Given the description of an element on the screen output the (x, y) to click on. 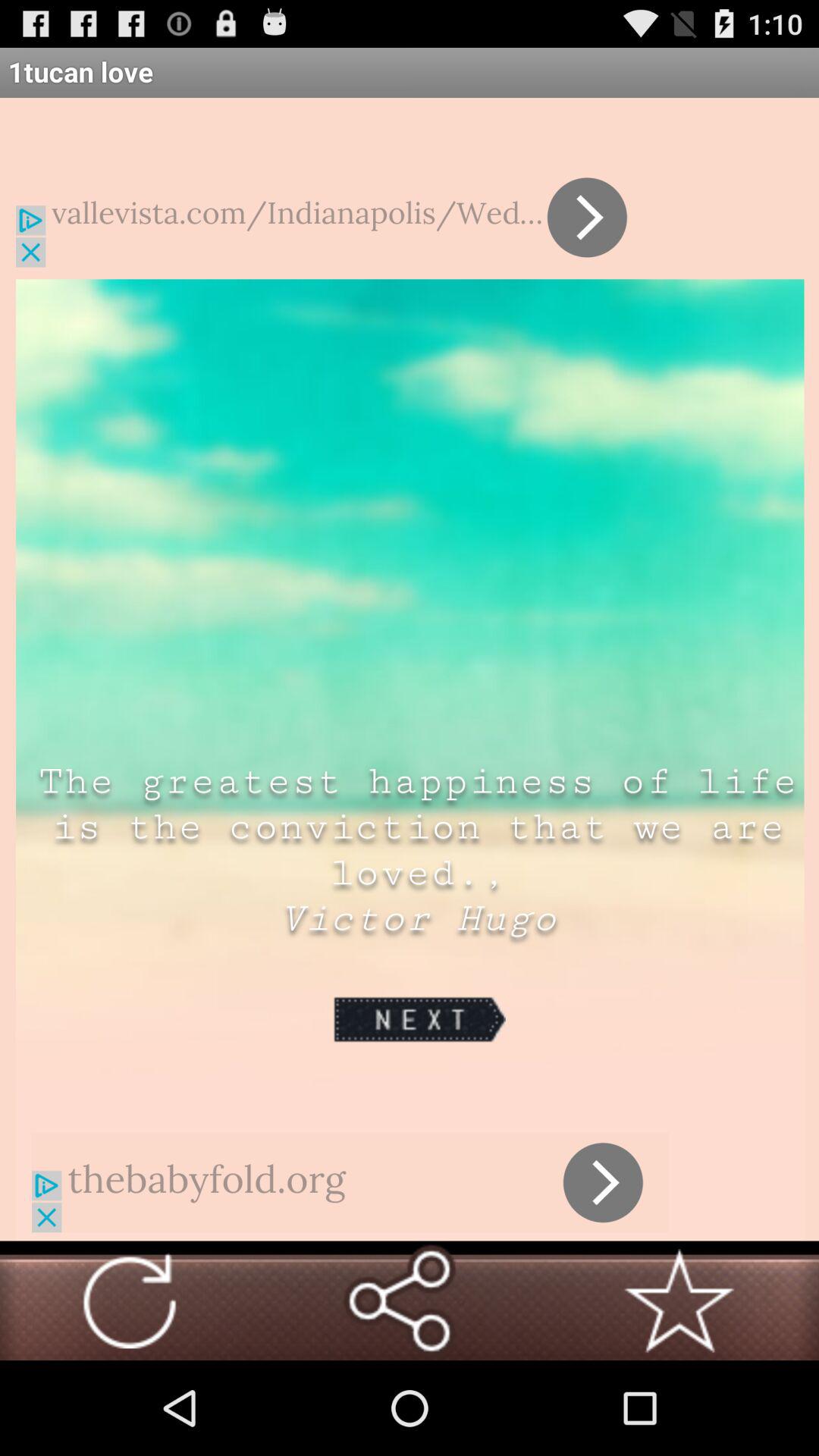
share the file (399, 1300)
